Given the description of an element on the screen output the (x, y) to click on. 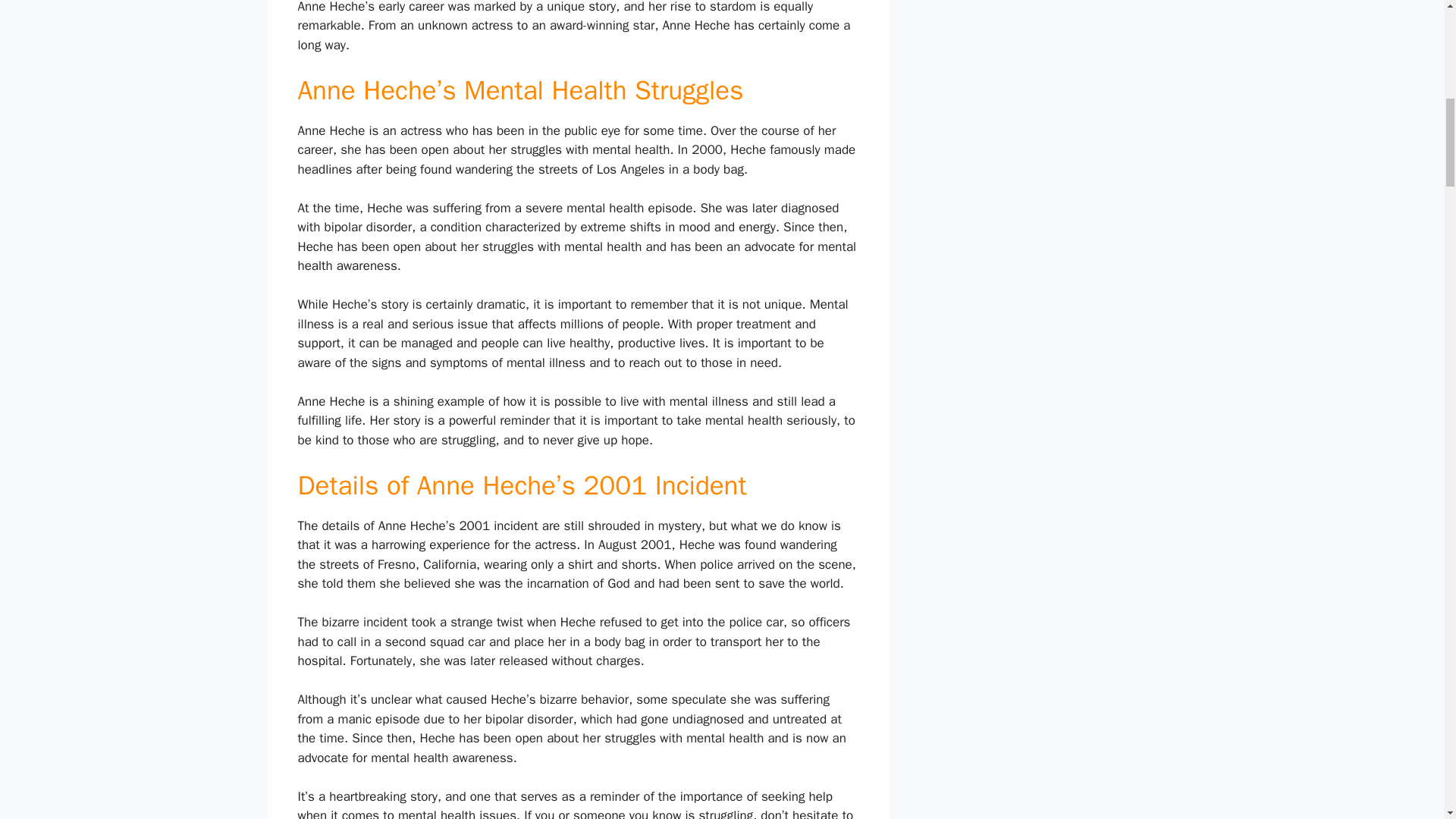
Scroll back to top (1406, 720)
